Given the description of an element on the screen output the (x, y) to click on. 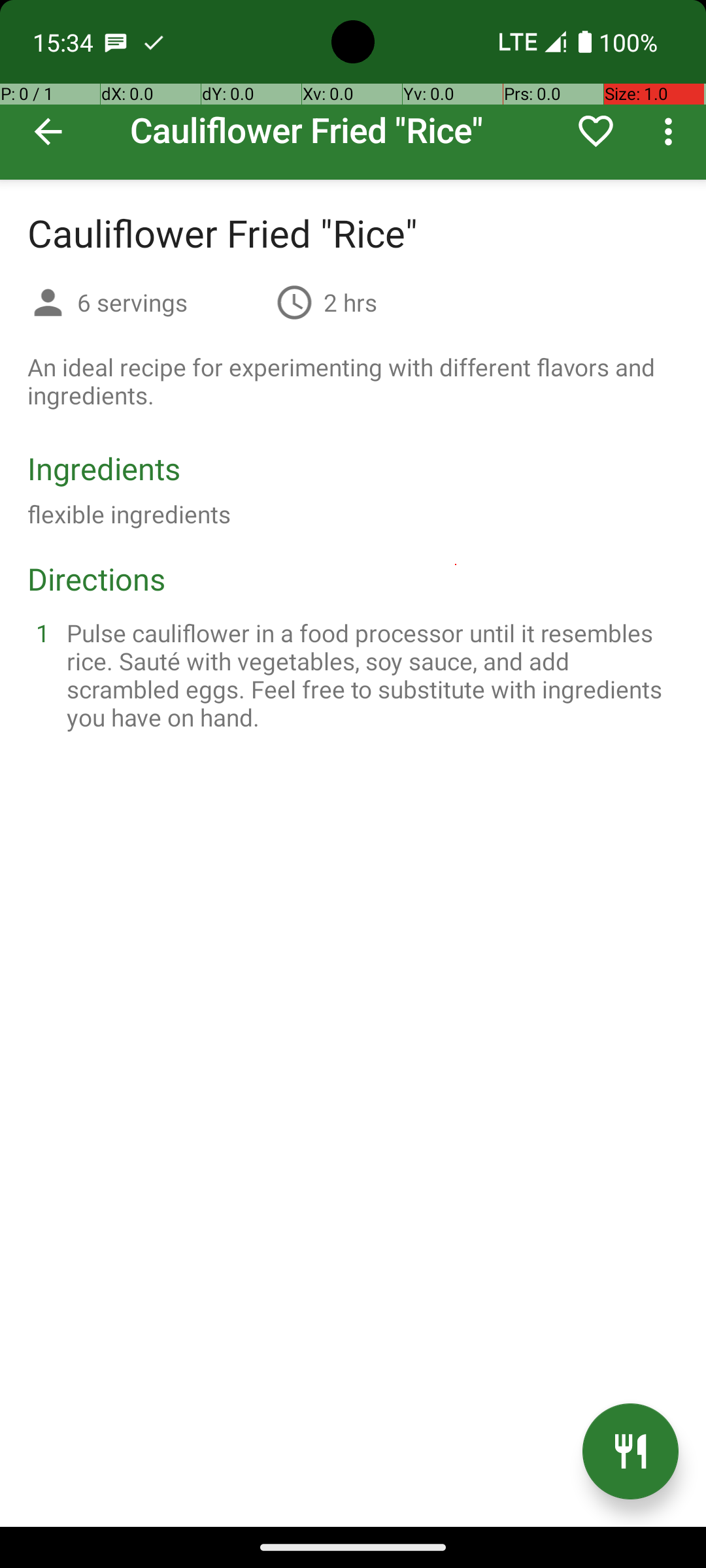
Pulse cauliflower in a food processor until it resembles rice. Sauté with vegetables, soy sauce, and add scrambled eggs. Feel free to substitute with ingredients you have on hand. Element type: android.widget.TextView (368, 674)
